Given the description of an element on the screen output the (x, y) to click on. 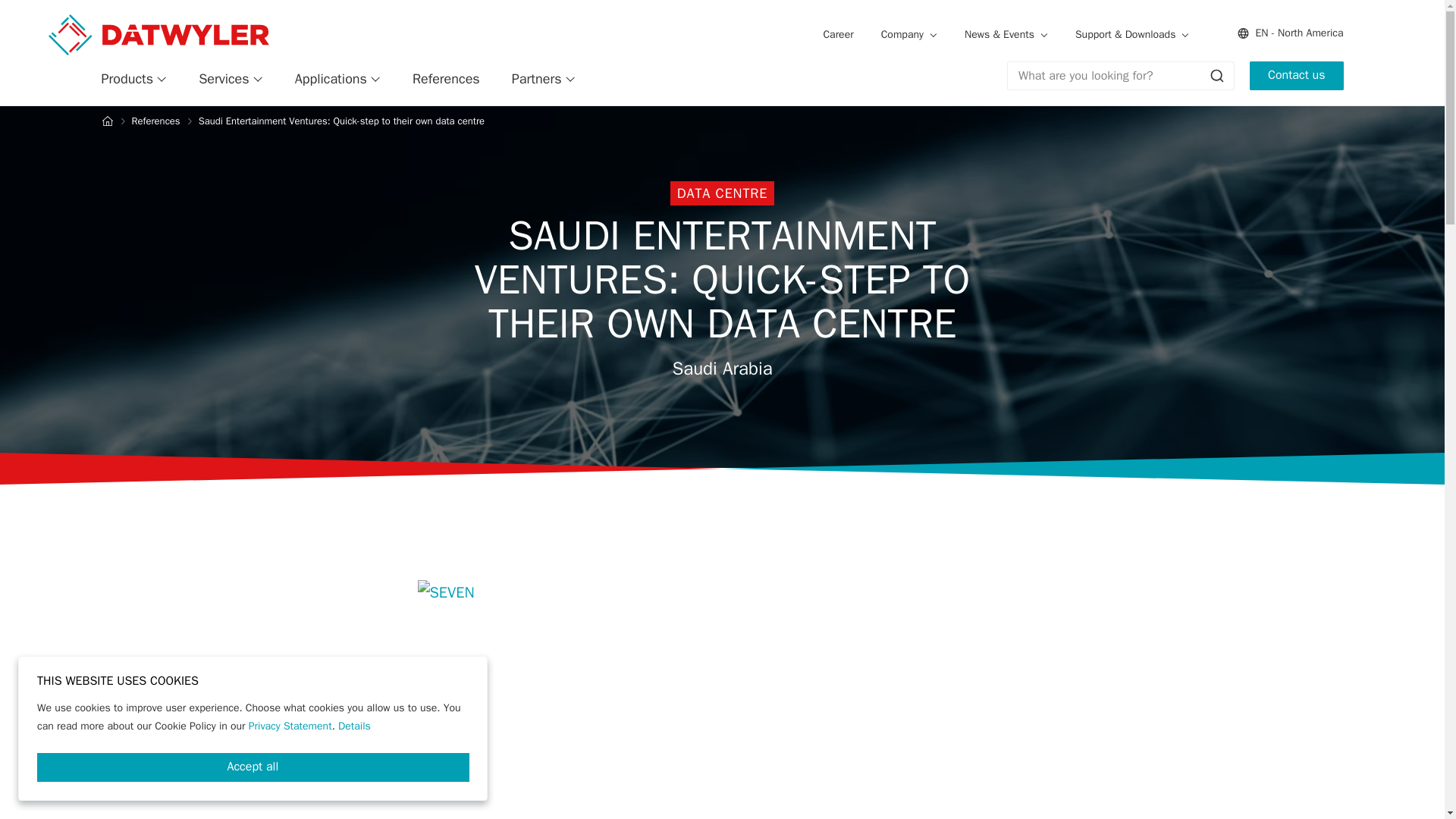
Applications (337, 78)
Services (230, 78)
Submit (1215, 75)
Products (134, 78)
Contact us (1295, 75)
